Given the description of an element on the screen output the (x, y) to click on. 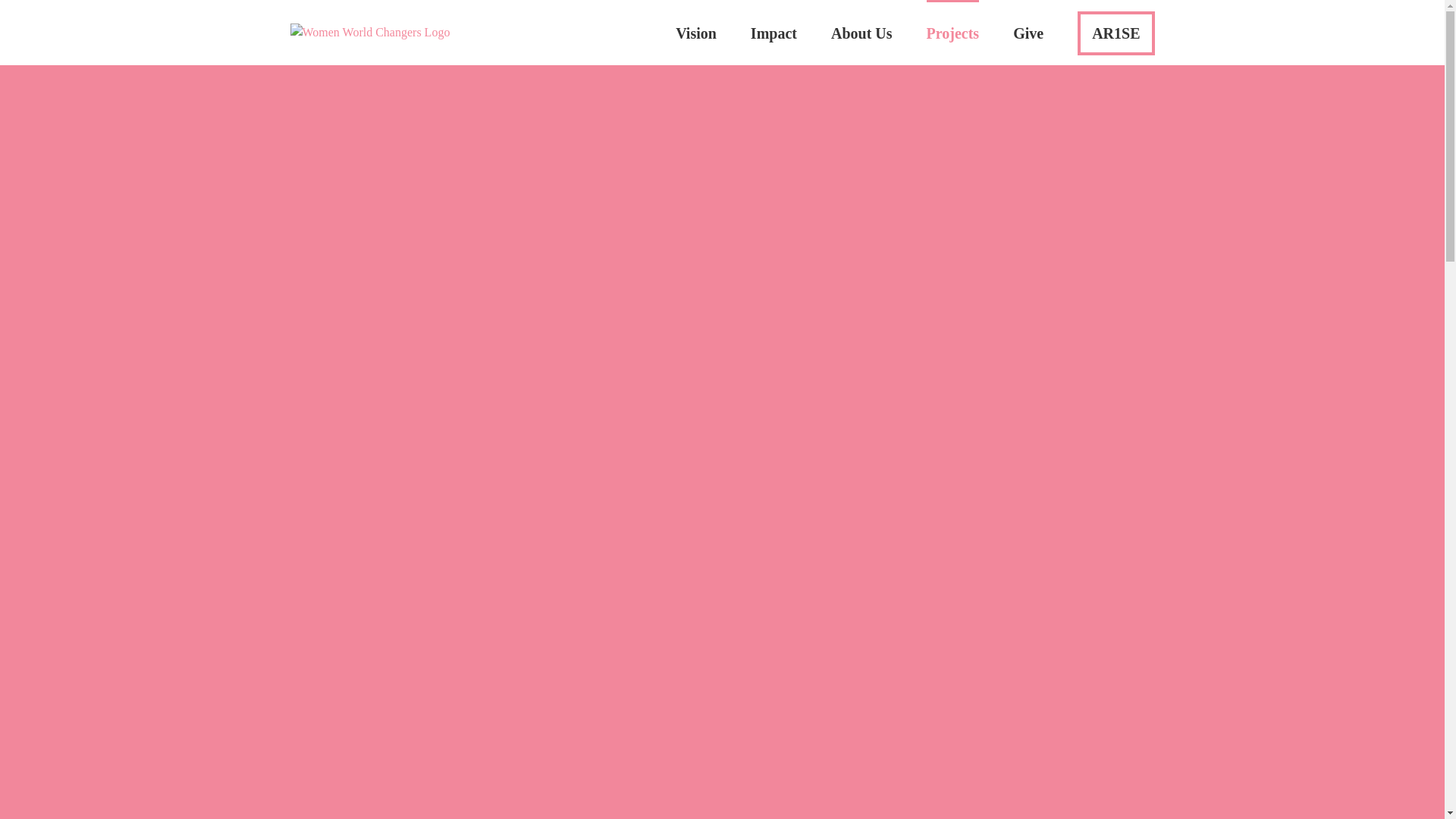
AR1SE (1115, 31)
Vimeo video player 1 (774, 780)
About Us (861, 31)
